Given the description of an element on the screen output the (x, y) to click on. 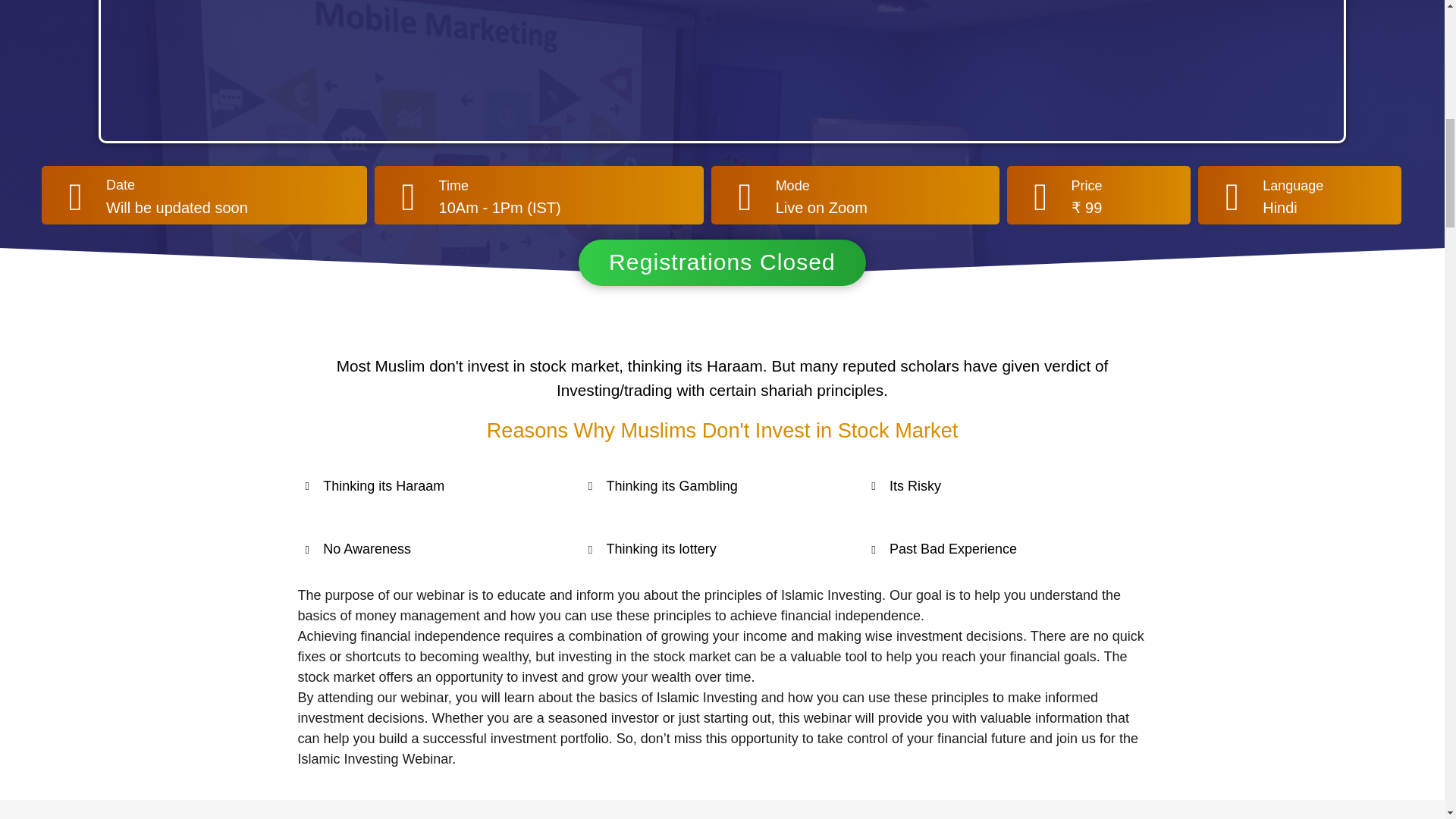
Registrations Closed (722, 262)
